Given the description of an element on the screen output the (x, y) to click on. 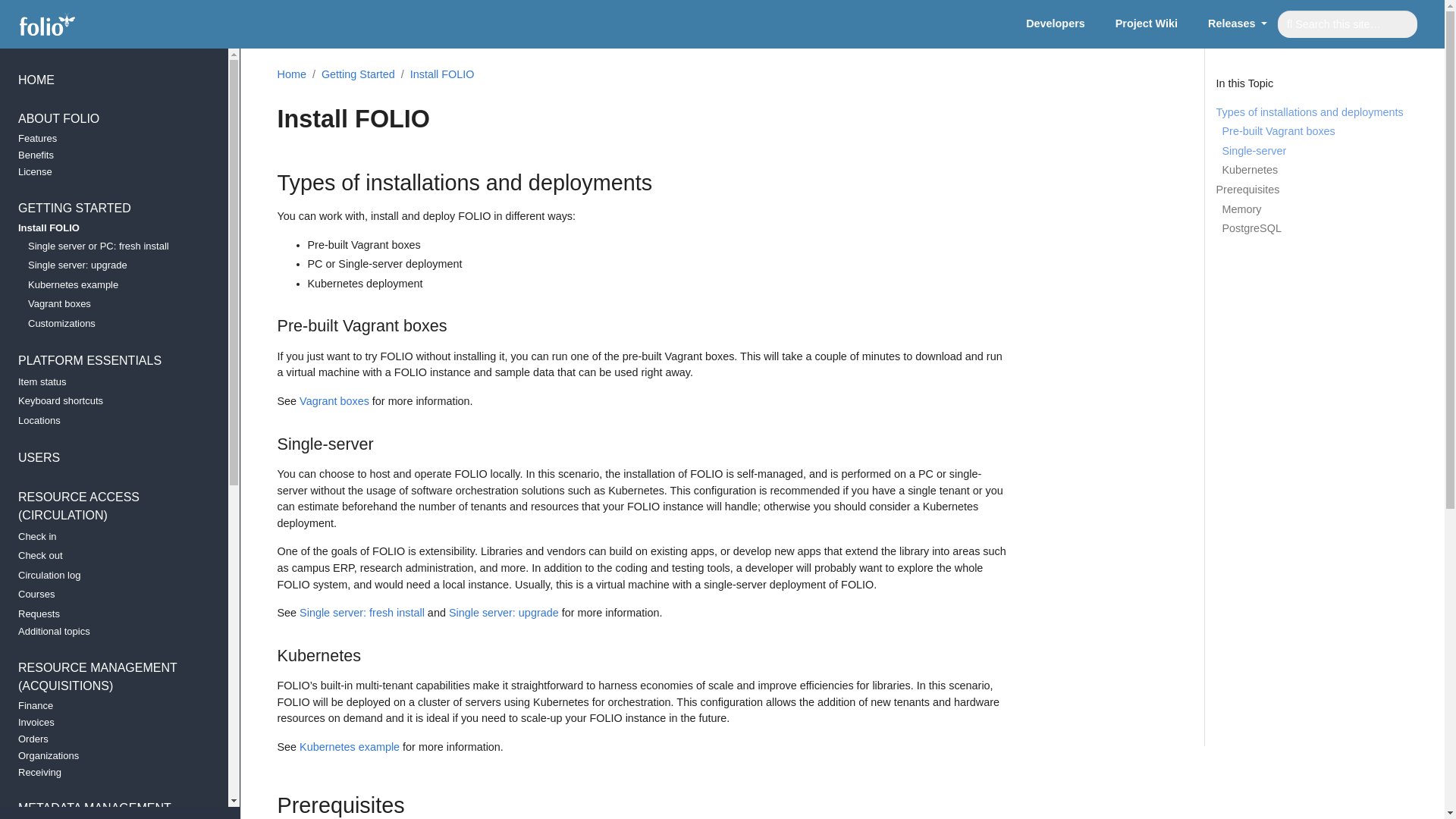
Courses (107, 596)
Features (107, 140)
Single server: upgrade (107, 267)
Check out (1149, 23)
Additional topics (107, 557)
Item status (107, 633)
Customizations (107, 383)
License (107, 325)
USERS (107, 174)
Keyboard shortcuts (107, 459)
Developers (107, 403)
Requests (1055, 23)
PLATFORM ESSENTIALS (107, 616)
Kubernetes example (107, 363)
